Given the description of an element on the screen output the (x, y) to click on. 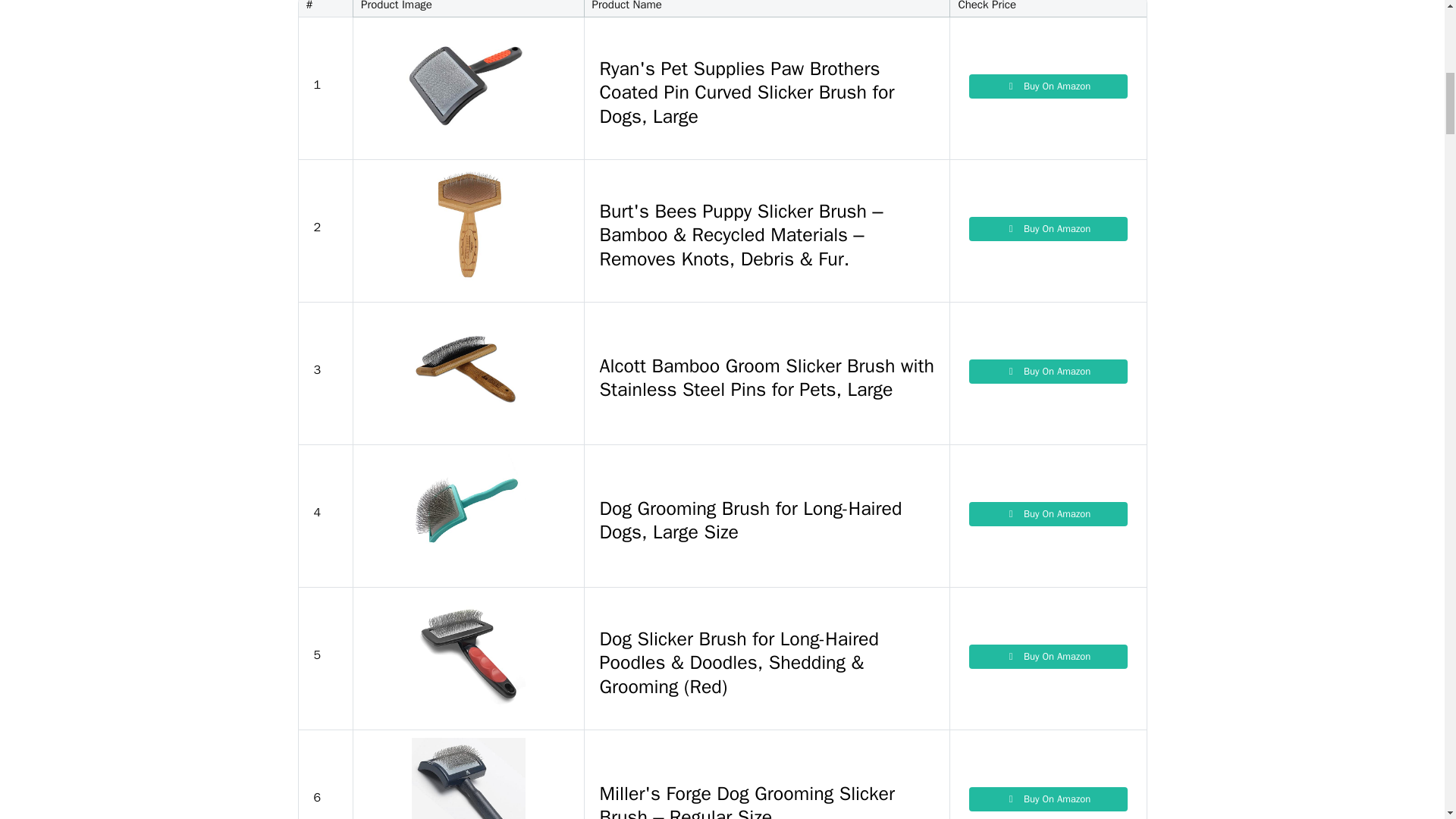
Check details from Amazon (1047, 86)
Buy On Amazon (1047, 228)
Check details from Amazon (1047, 371)
Dog Grooming Brush for Long-Haired Dogs, Large Size (766, 516)
Buy On Amazon (1047, 656)
Check details from Amazon (1047, 514)
Check details from Amazon (1047, 228)
Buy On Amazon (1047, 86)
Check details from Amazon (1047, 656)
Check details from Amazon (1047, 799)
Buy On Amazon (1047, 371)
Buy On Amazon (1047, 514)
Buy On Amazon (1047, 799)
